Given the description of an element on the screen output the (x, y) to click on. 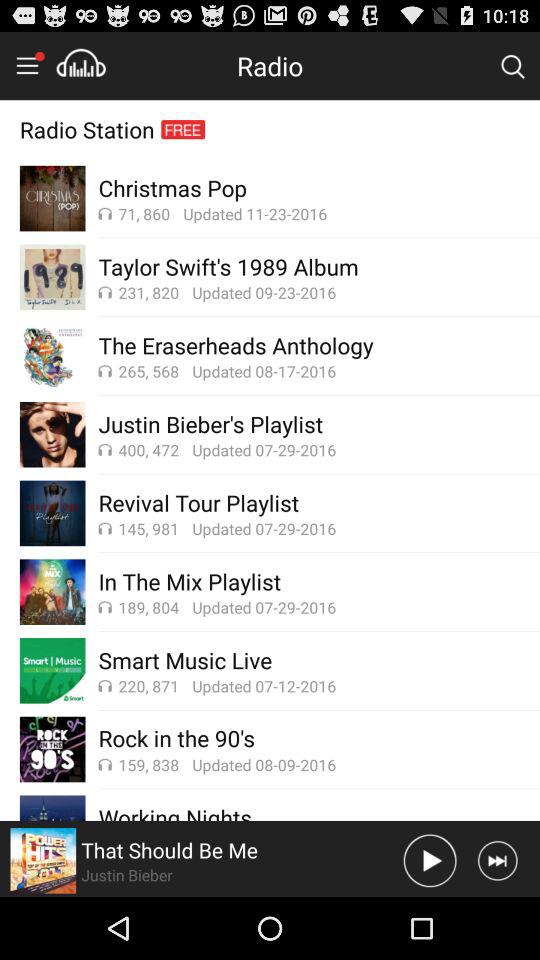
turn off the item next to the that should be icon (429, 860)
